Given the description of an element on the screen output the (x, y) to click on. 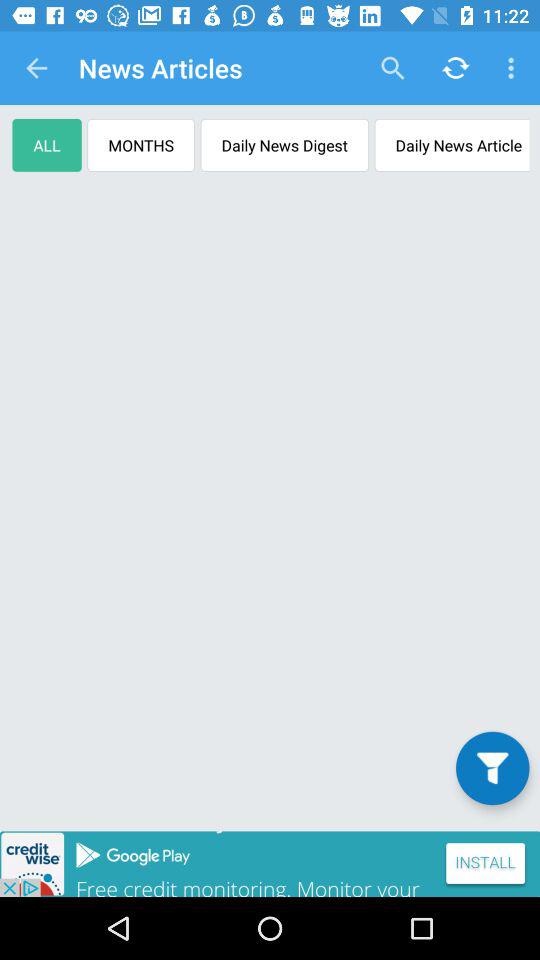
advertisement (270, 864)
